Given the description of an element on the screen output the (x, y) to click on. 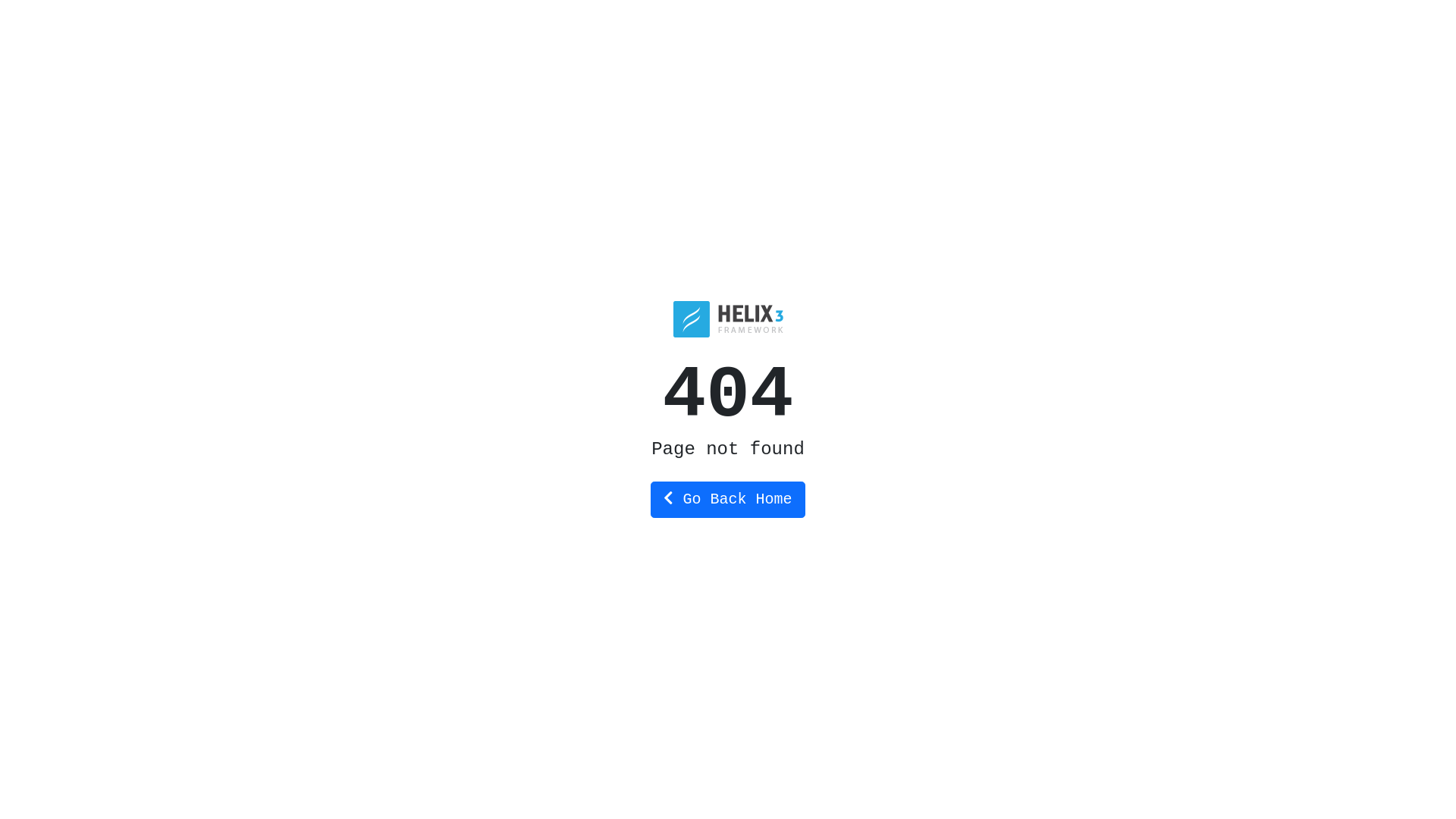
Go Back Home Element type: text (727, 499)
